Given the description of an element on the screen output the (x, y) to click on. 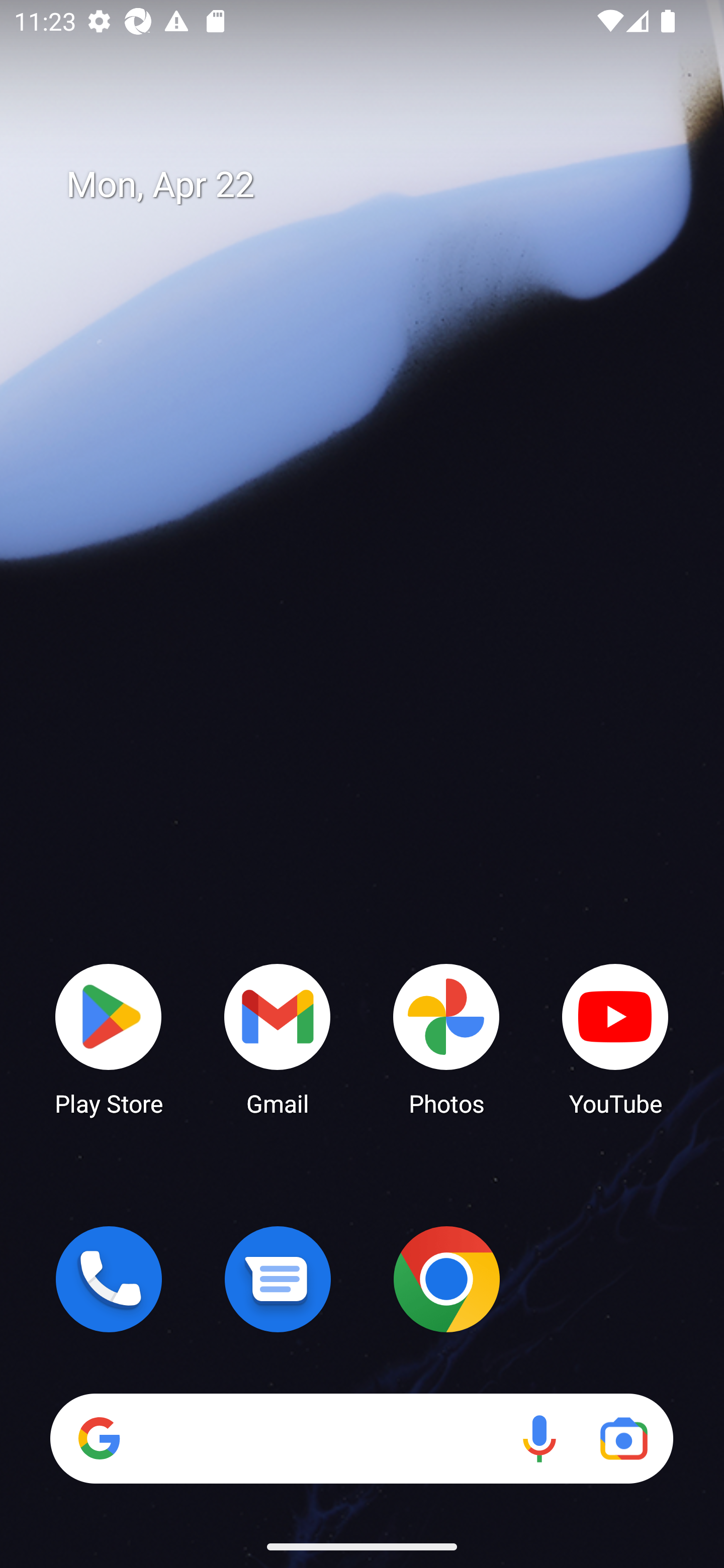
Mon, Apr 22 (375, 184)
Play Store (108, 1038)
Gmail (277, 1038)
Photos (445, 1038)
YouTube (615, 1038)
Phone (108, 1279)
Messages (277, 1279)
Chrome (446, 1279)
Search Voice search Google Lens (361, 1438)
Voice search (539, 1438)
Google Lens (623, 1438)
